Given the description of an element on the screen output the (x, y) to click on. 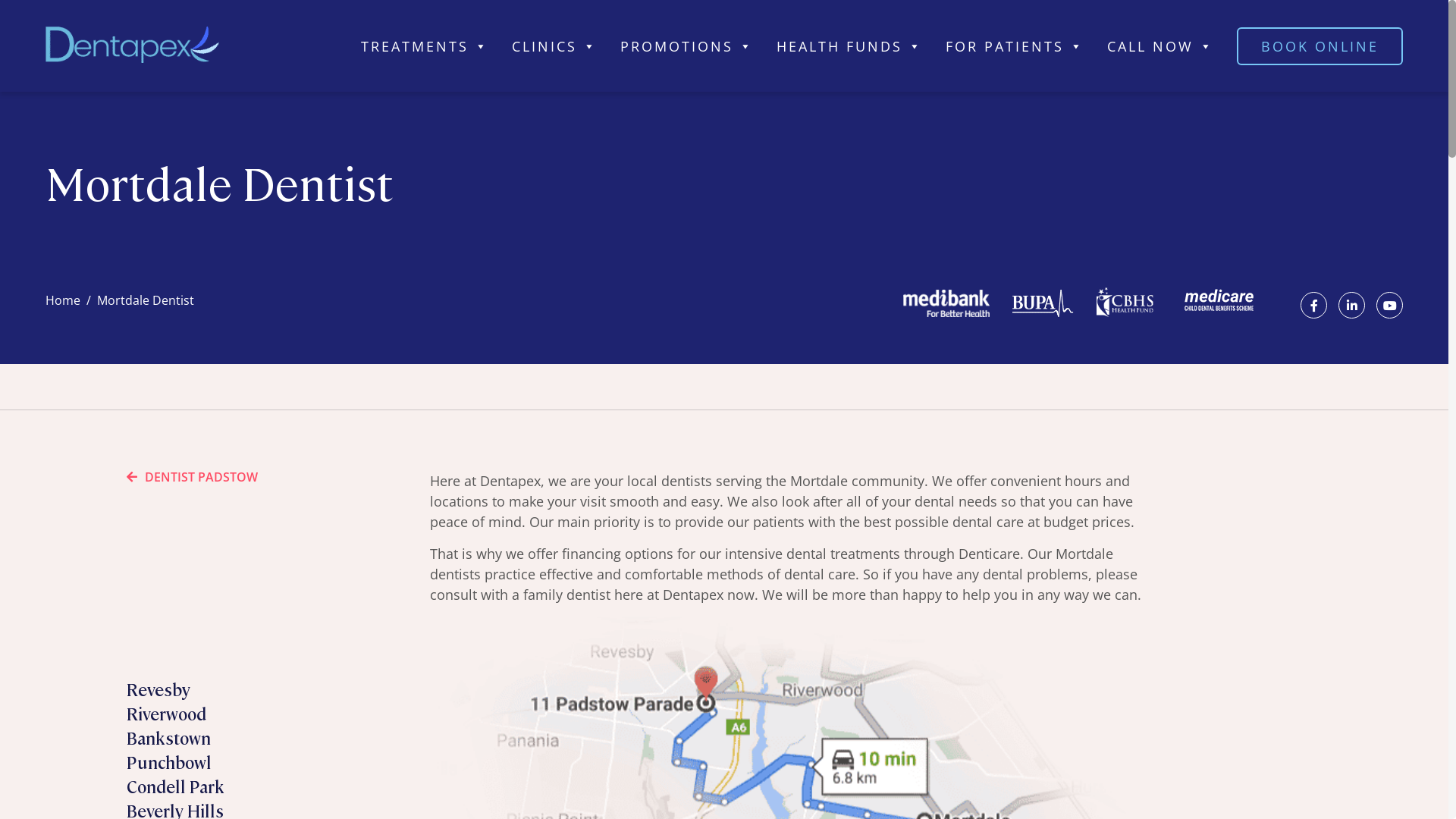
Revesby Element type: text (158, 688)
DENTIST PADSTOW Element type: text (191, 476)
CLINICS Element type: text (554, 45)
Home Element type: text (62, 299)
CALL NOW Element type: text (1160, 45)
Riverwood Element type: text (166, 713)
PROMOTIONS Element type: text (686, 45)
TREATMENTS Element type: text (424, 45)
BOOK ONLINE Element type: text (1319, 46)
Punchbowl Element type: text (168, 761)
Condell Park Element type: text (175, 786)
HEALTH FUNDS Element type: text (849, 45)
Youtube Element type: hover (1389, 304)
Facebook Element type: hover (1313, 304)
LinkedIn Element type: hover (1351, 304)
FOR PATIENTS Element type: text (1014, 45)
Bankstown Element type: text (168, 737)
